Given the description of an element on the screen output the (x, y) to click on. 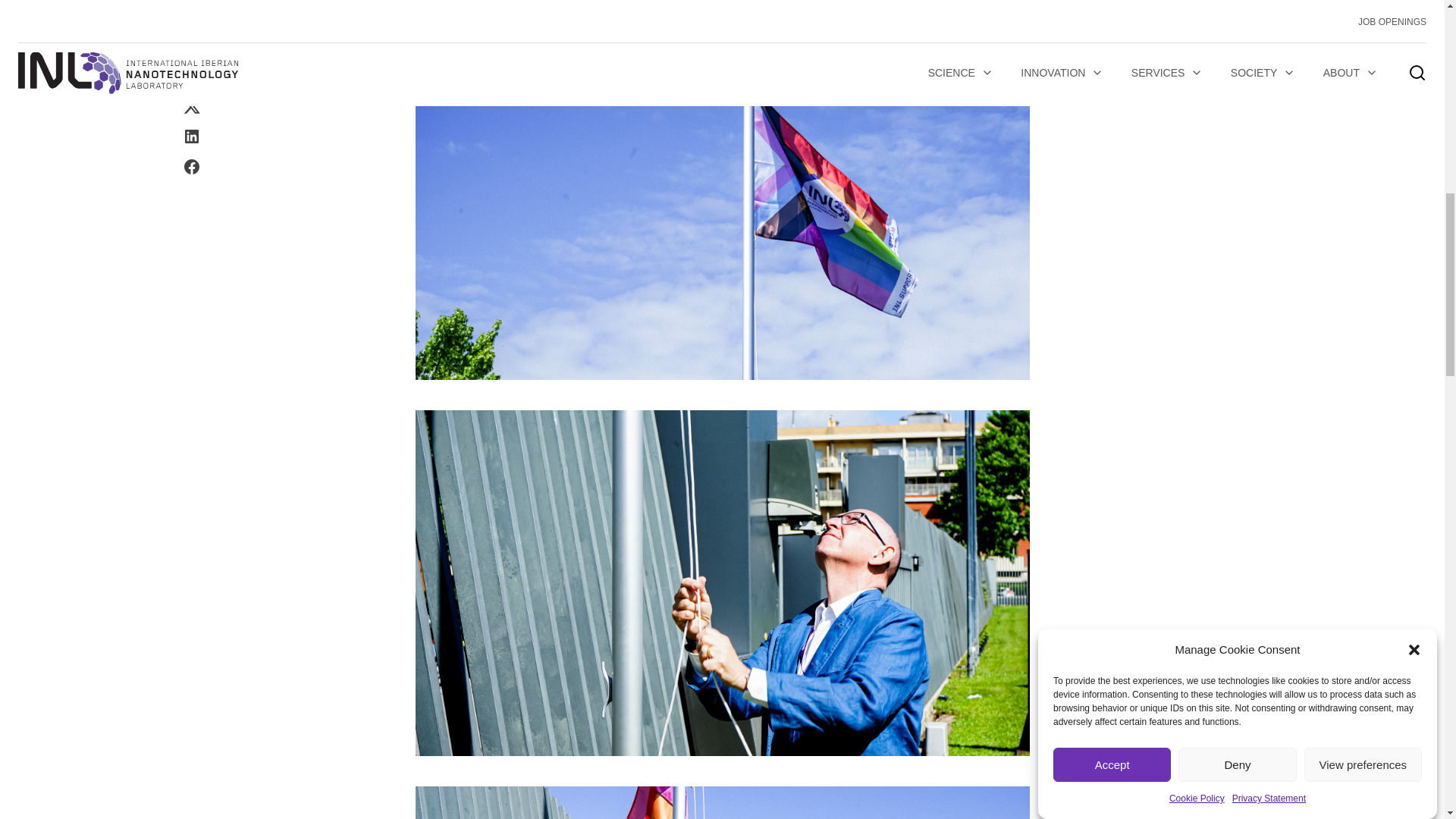
Cookie Policy (1196, 67)
Share on Facebook (191, 55)
View preferences (1363, 96)
Share on Linkedin (191, 25)
Deny (1236, 119)
Accept (1111, 158)
Share on Twitter (191, 5)
Privacy Statement (1268, 54)
